Given the description of an element on the screen output the (x, y) to click on. 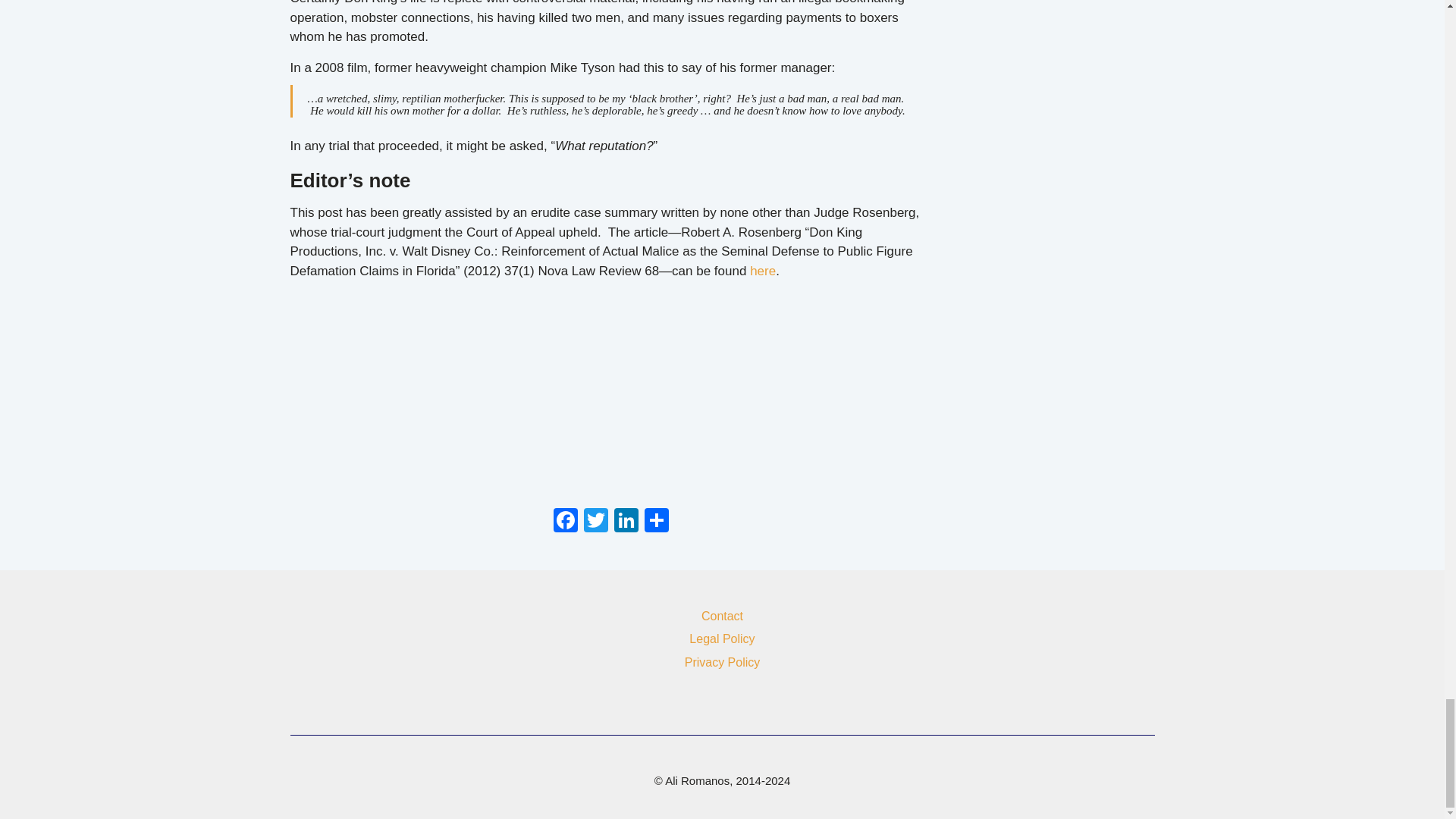
LinkedIn (626, 523)
Facebook (565, 523)
Twitter (595, 523)
